Given the description of an element on the screen output the (x, y) to click on. 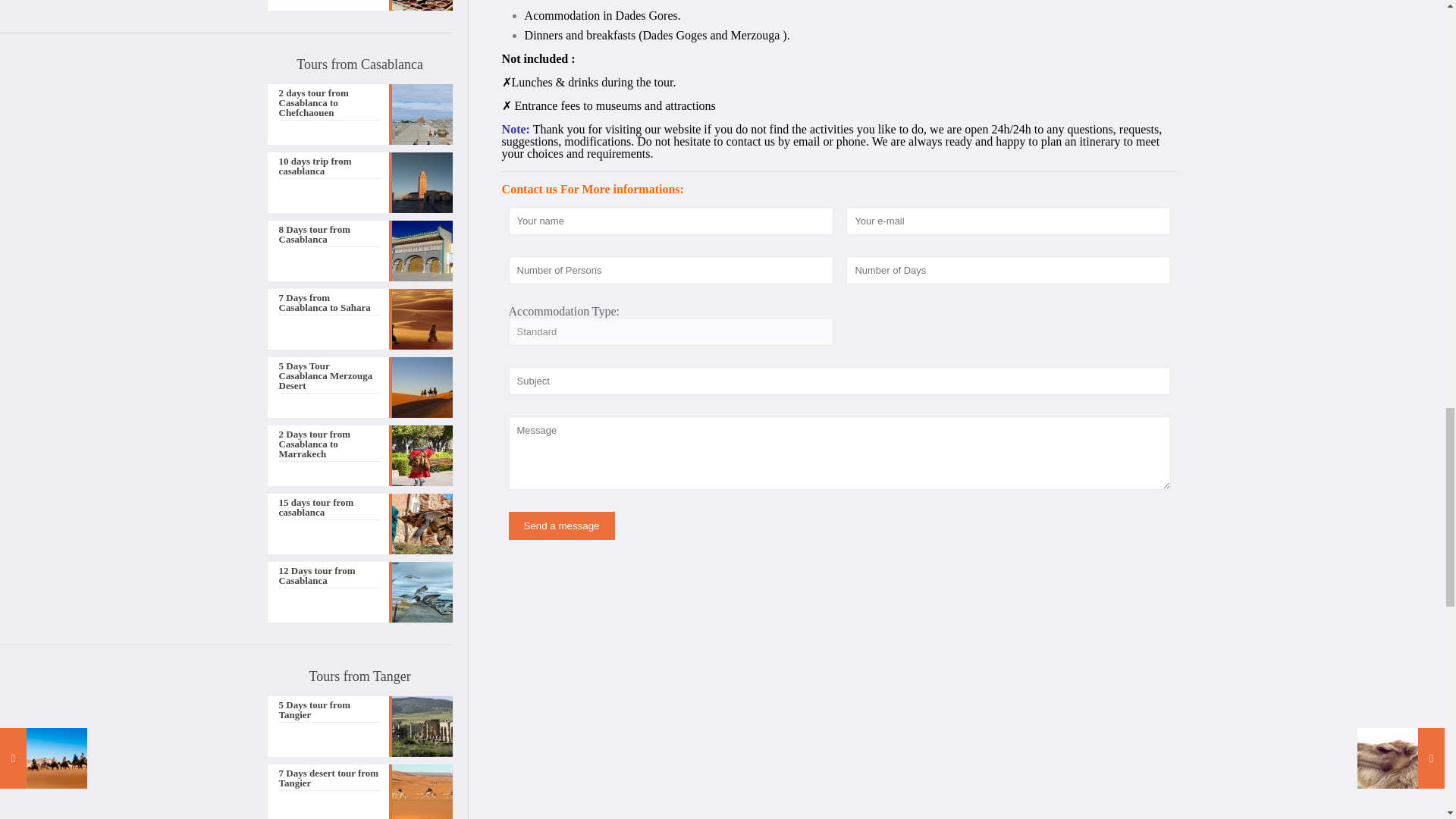
NON INCLUS :  (538, 58)
Send a message (561, 525)
